Given the description of an element on the screen output the (x, y) to click on. 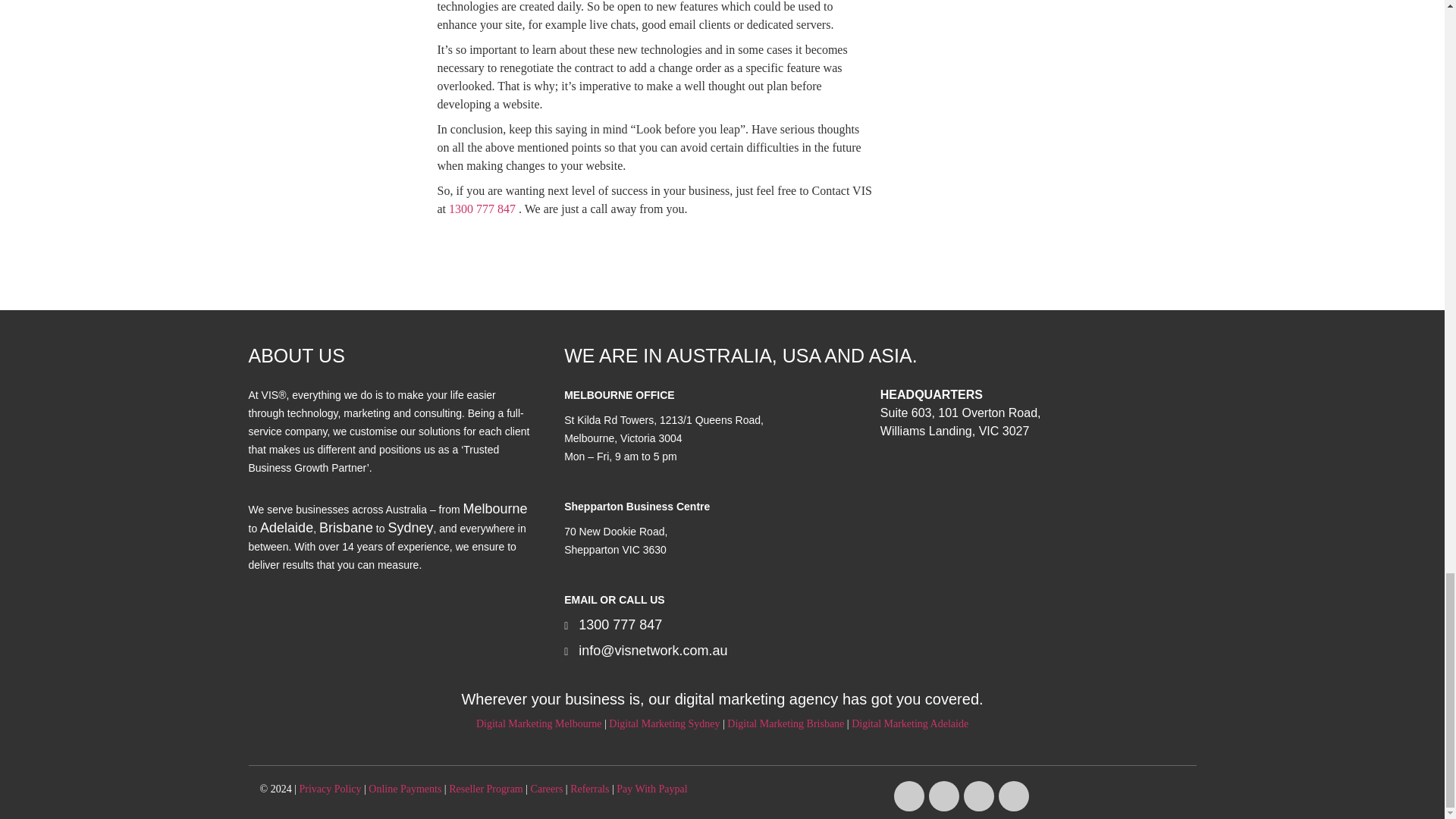
Facebook (908, 796)
Linkedin (1013, 796)
Youtube (978, 796)
Instagram (943, 796)
